Given the description of an element on the screen output the (x, y) to click on. 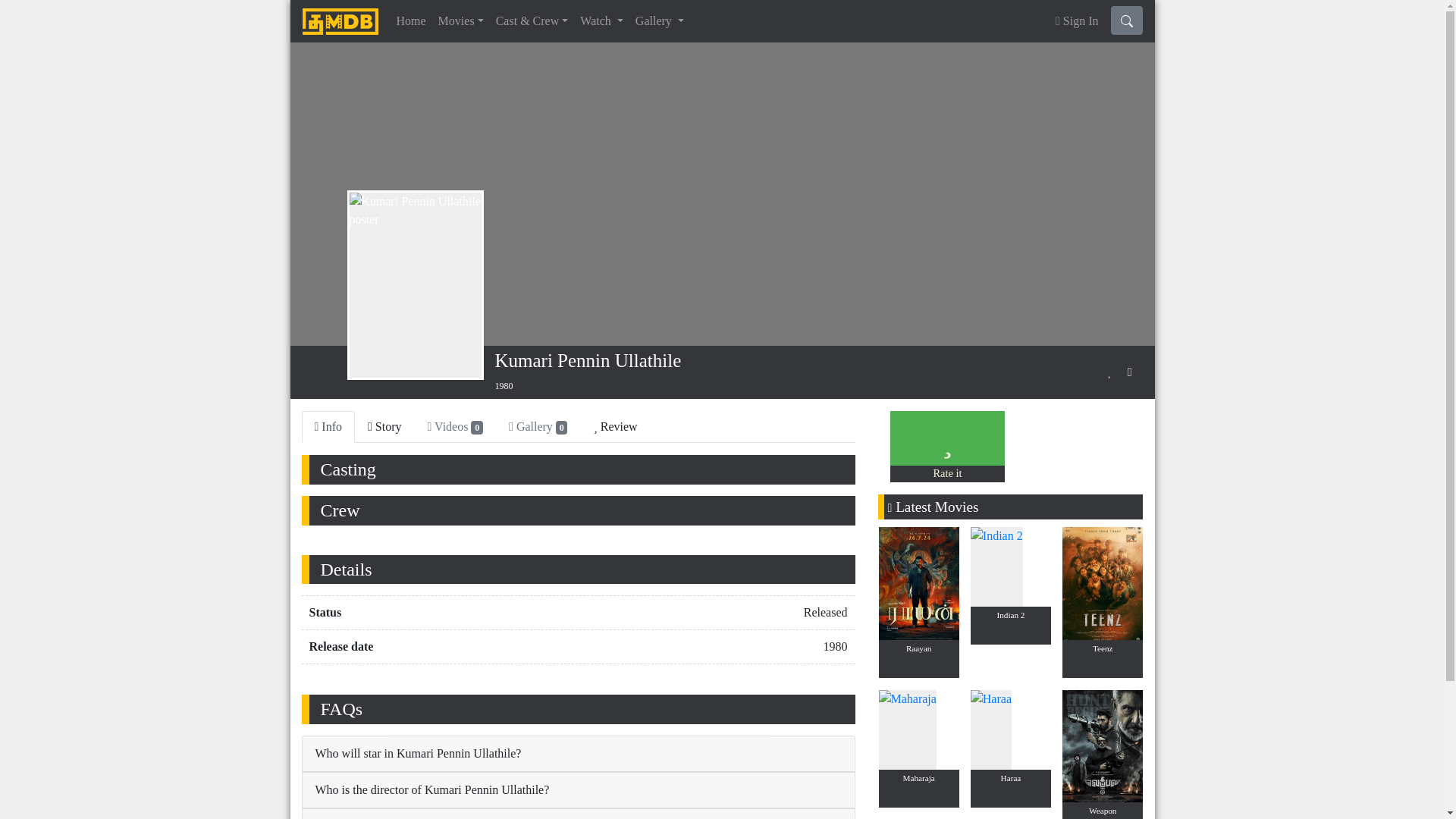
Home (410, 20)
Movies (460, 20)
Rate it (946, 472)
